Given the description of an element on the screen output the (x, y) to click on. 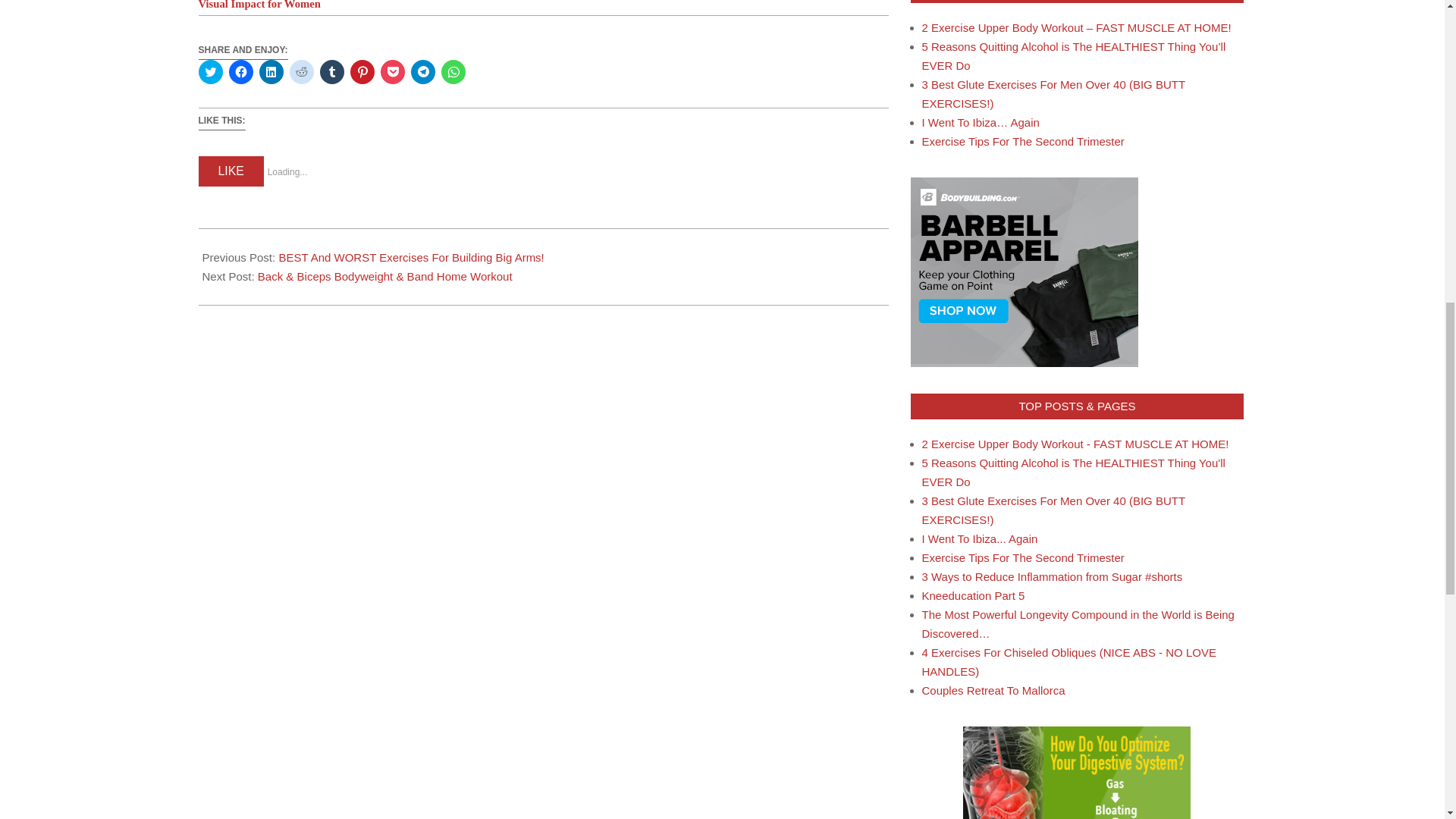
Click to share on Pinterest (362, 71)
Click to share on Pocket (392, 71)
Exercise Tips For The Second Trimester (1022, 141)
BEST And WORST Exercises For Building Big Arms! (410, 256)
Click to share on Twitter (210, 71)
I Went To Ibiza... Again (979, 538)
2 Exercise Upper Body Workout - FAST MUSCLE AT HOME! (1074, 443)
Click to share on Reddit (301, 71)
Click to share on Facebook (240, 71)
Visual Impact for Women (259, 4)
Click to share on Tumblr (331, 71)
Click to share on LinkedIn (271, 71)
Click to share on Telegram (422, 71)
Click to share on WhatsApp (453, 71)
